Given the description of an element on the screen output the (x, y) to click on. 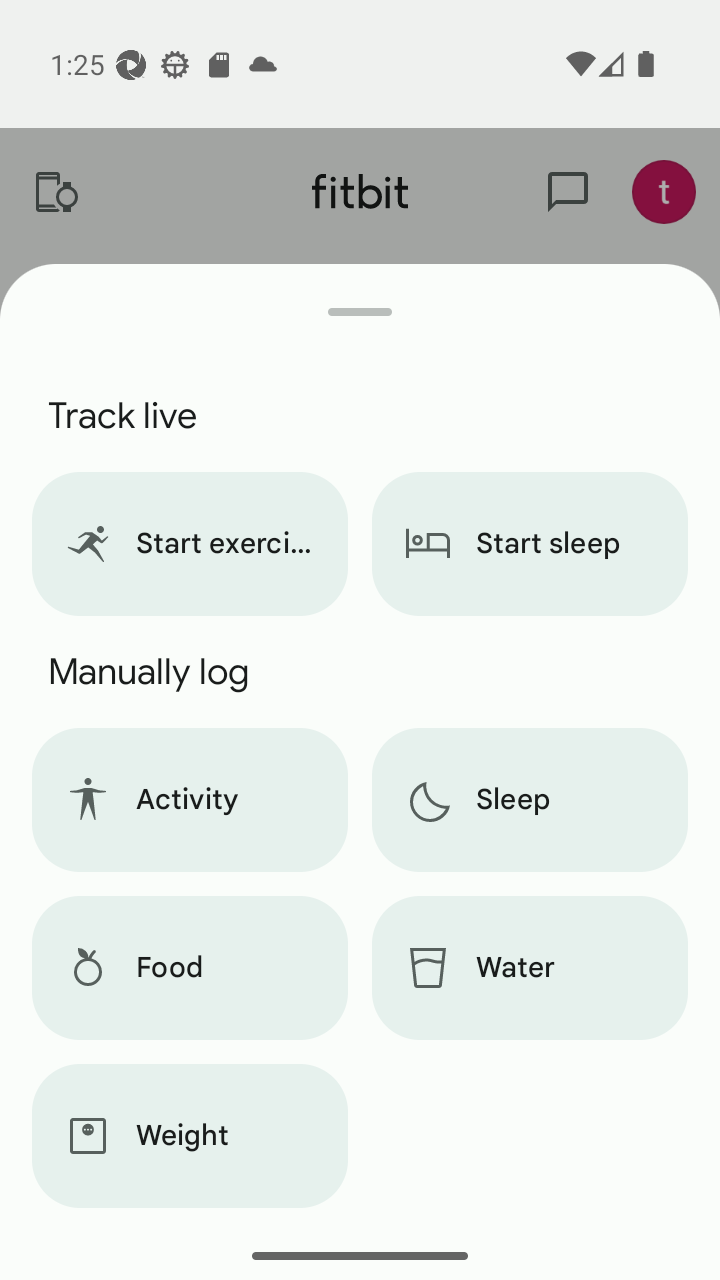
Start exercise (189, 543)
Start sleep (530, 543)
Activity (189, 799)
Sleep (530, 799)
Food (189, 967)
Water (530, 967)
Weight (189, 1135)
